Given the description of an element on the screen output the (x, y) to click on. 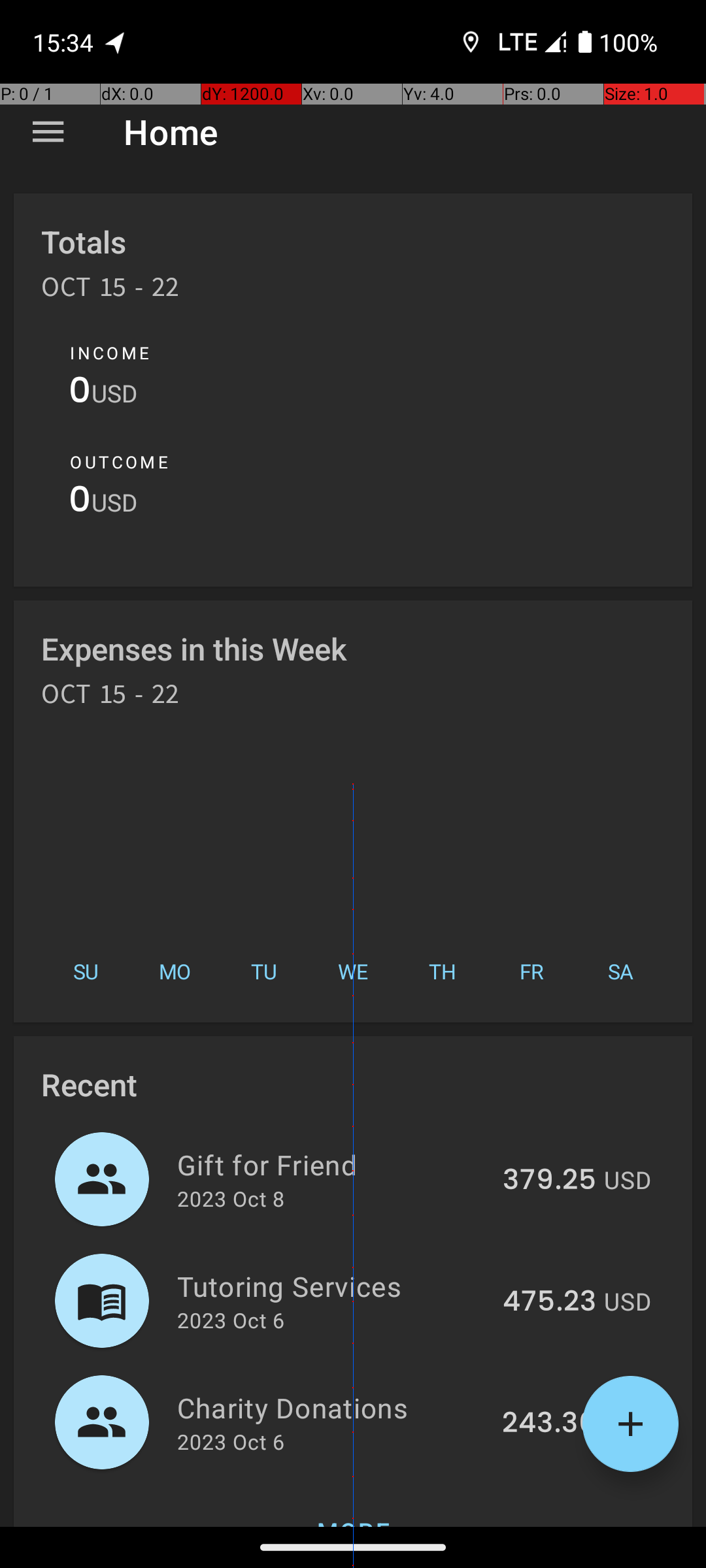
379.25 Element type: android.widget.TextView (549, 1180)
Tutoring Services Element type: android.widget.TextView (332, 1285)
2023 Oct 6 Element type: android.widget.TextView (230, 1320)
475.23 Element type: android.widget.TextView (549, 1301)
Charity Donations Element type: android.widget.TextView (331, 1407)
243.36 Element type: android.widget.TextView (548, 1423)
